Given the description of an element on the screen output the (x, y) to click on. 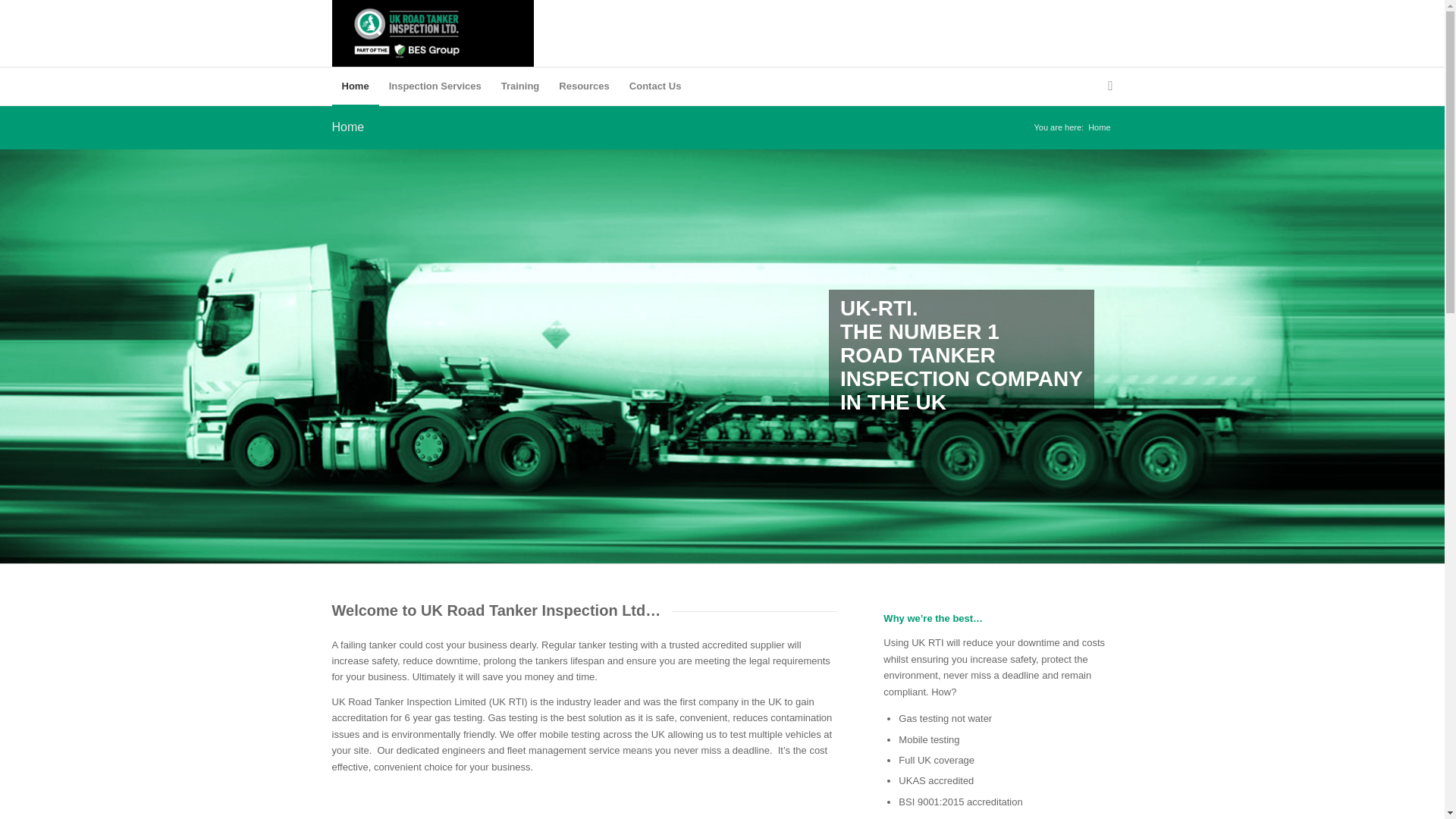
Permanent Link: Home (348, 126)
Inspection Services (435, 86)
Training (521, 86)
Home (354, 86)
Contact Us (655, 86)
Home (348, 126)
Resources (583, 86)
